Given the description of an element on the screen output the (x, y) to click on. 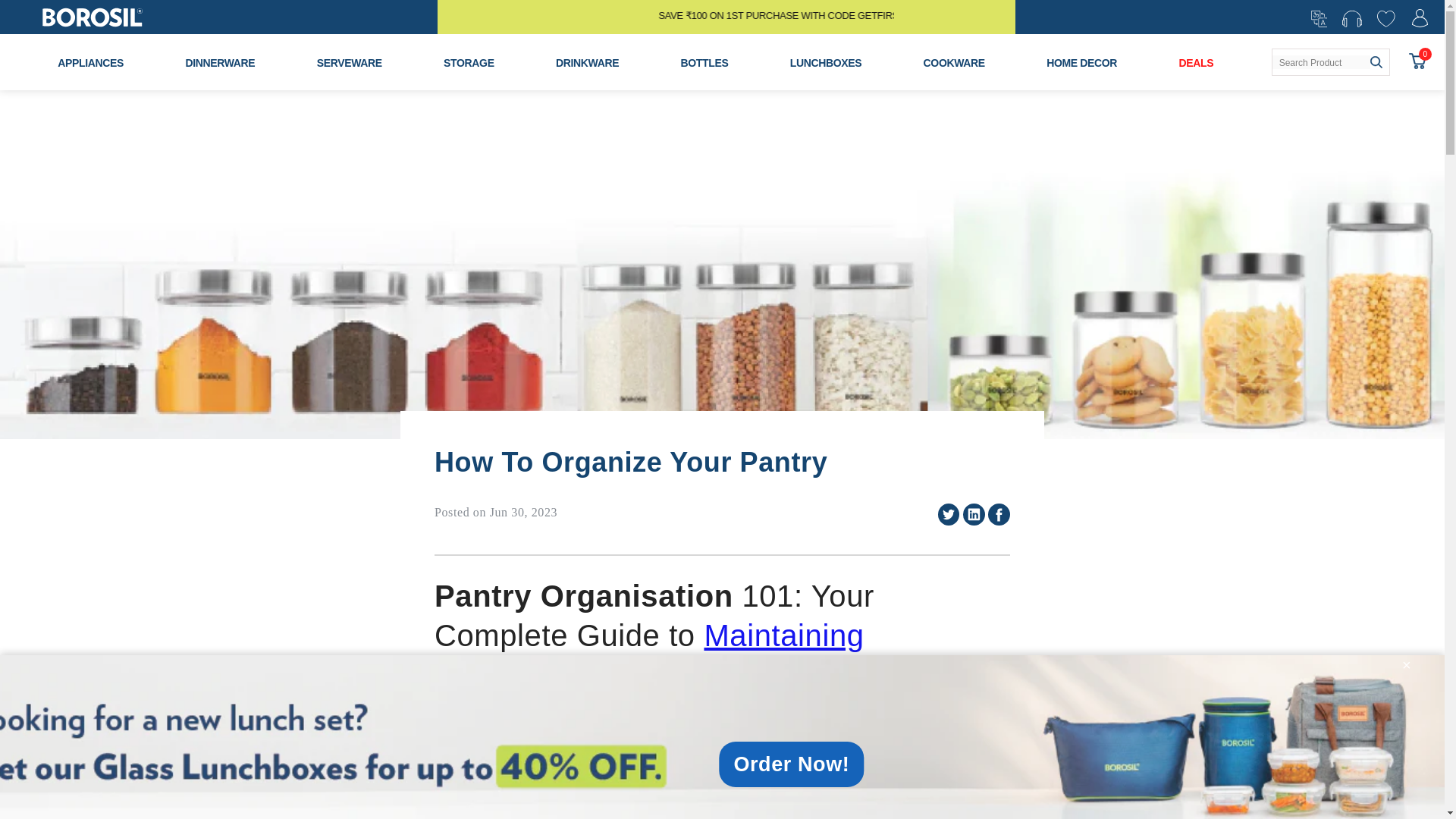
How to Keep Your Produce Fresh for Weeks (783, 635)
DINNERWARE (219, 61)
APPLIANCES (90, 61)
